Given the description of an element on the screen output the (x, y) to click on. 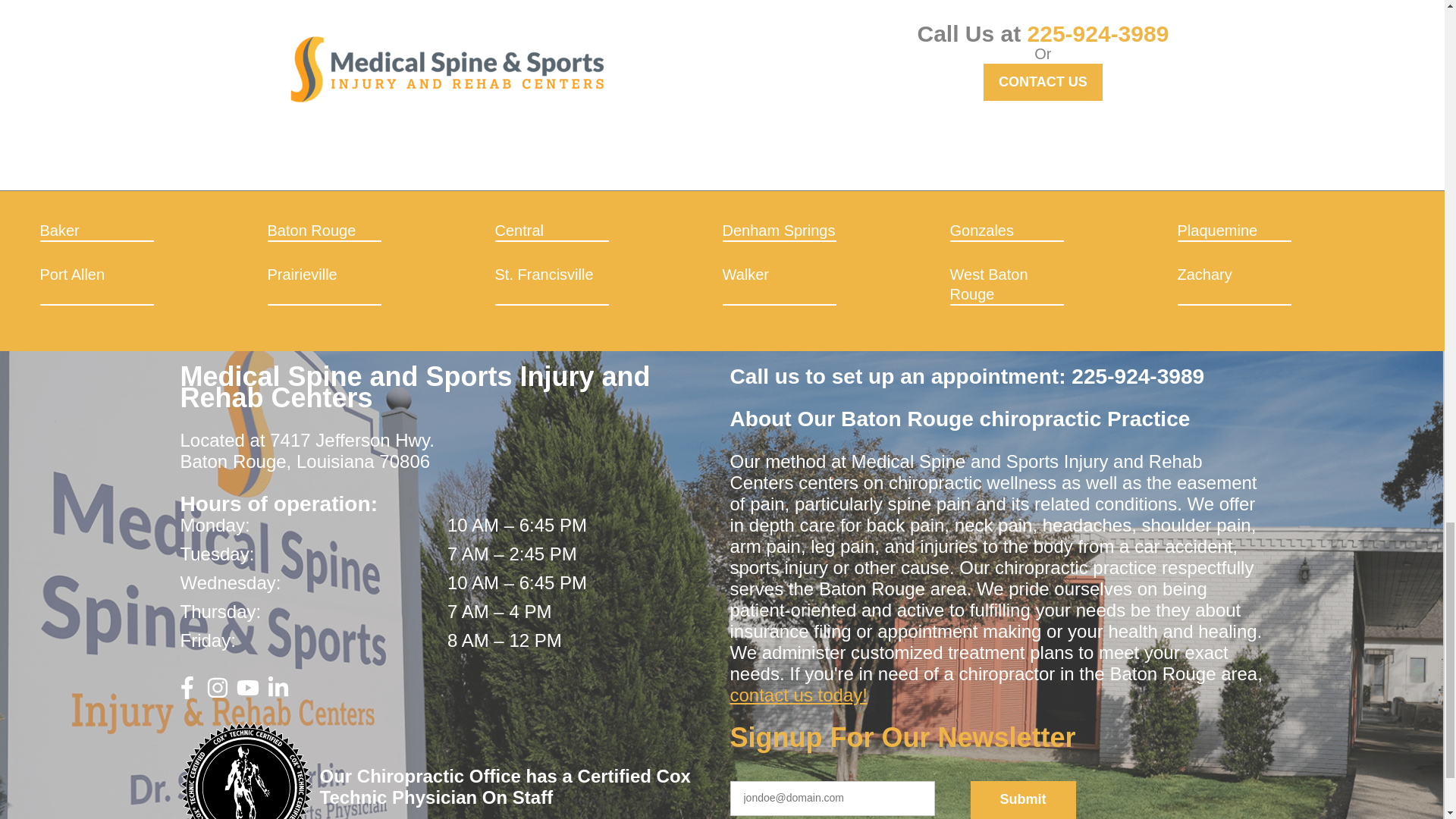
Subscribe to us on YouTube (247, 693)
Submit (1023, 800)
Connect with us on LinkedIn (277, 693)
Like us on Facebook (187, 693)
Follow us on Instagram (217, 693)
